Given the description of an element on the screen output the (x, y) to click on. 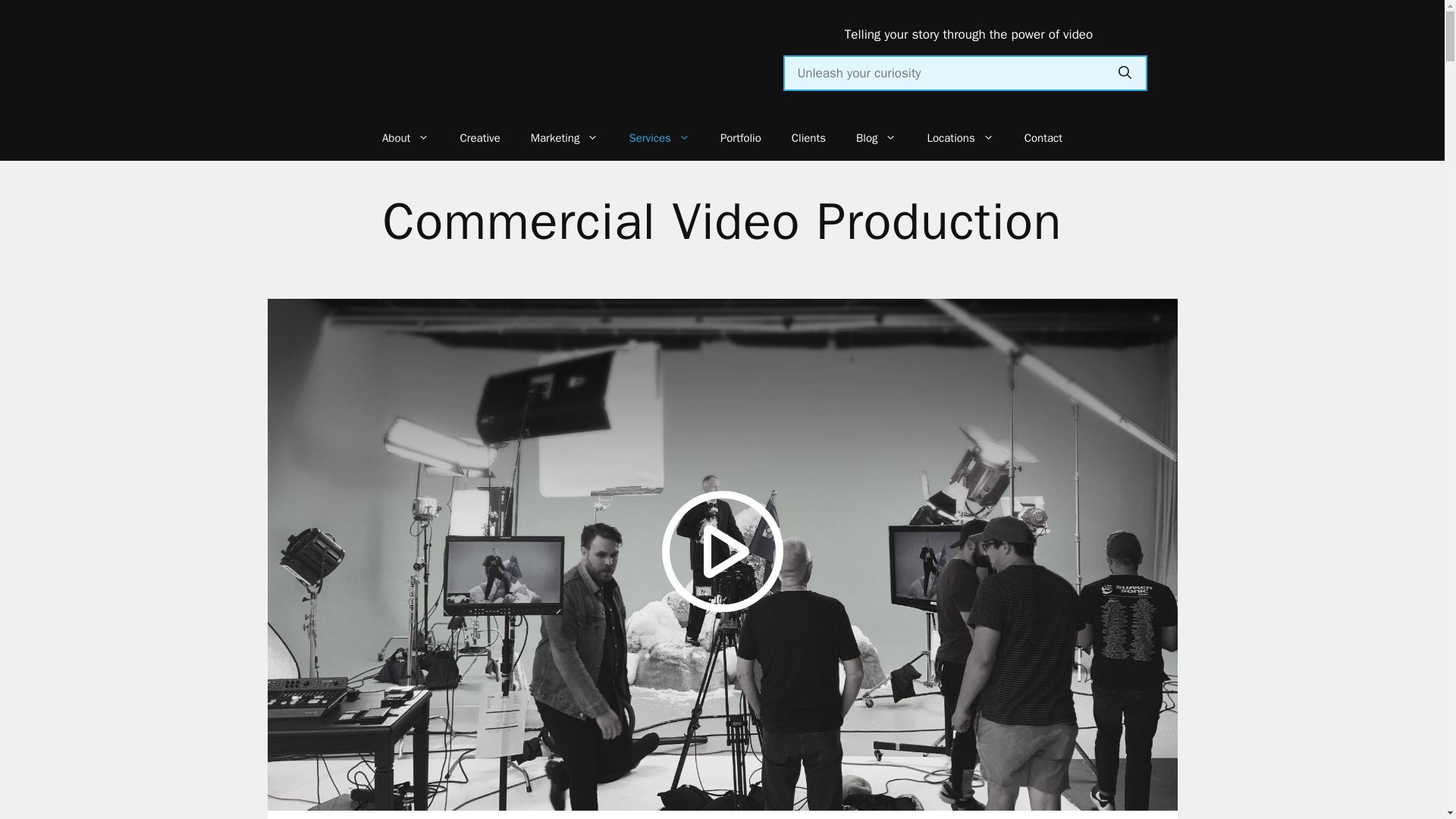
Clients (808, 137)
Marketing (564, 137)
Portfolio (740, 137)
Locations (960, 137)
Contact (1043, 137)
Blog (876, 137)
Services (658, 137)
Creative (479, 137)
About (405, 137)
